Given the description of an element on the screen output the (x, y) to click on. 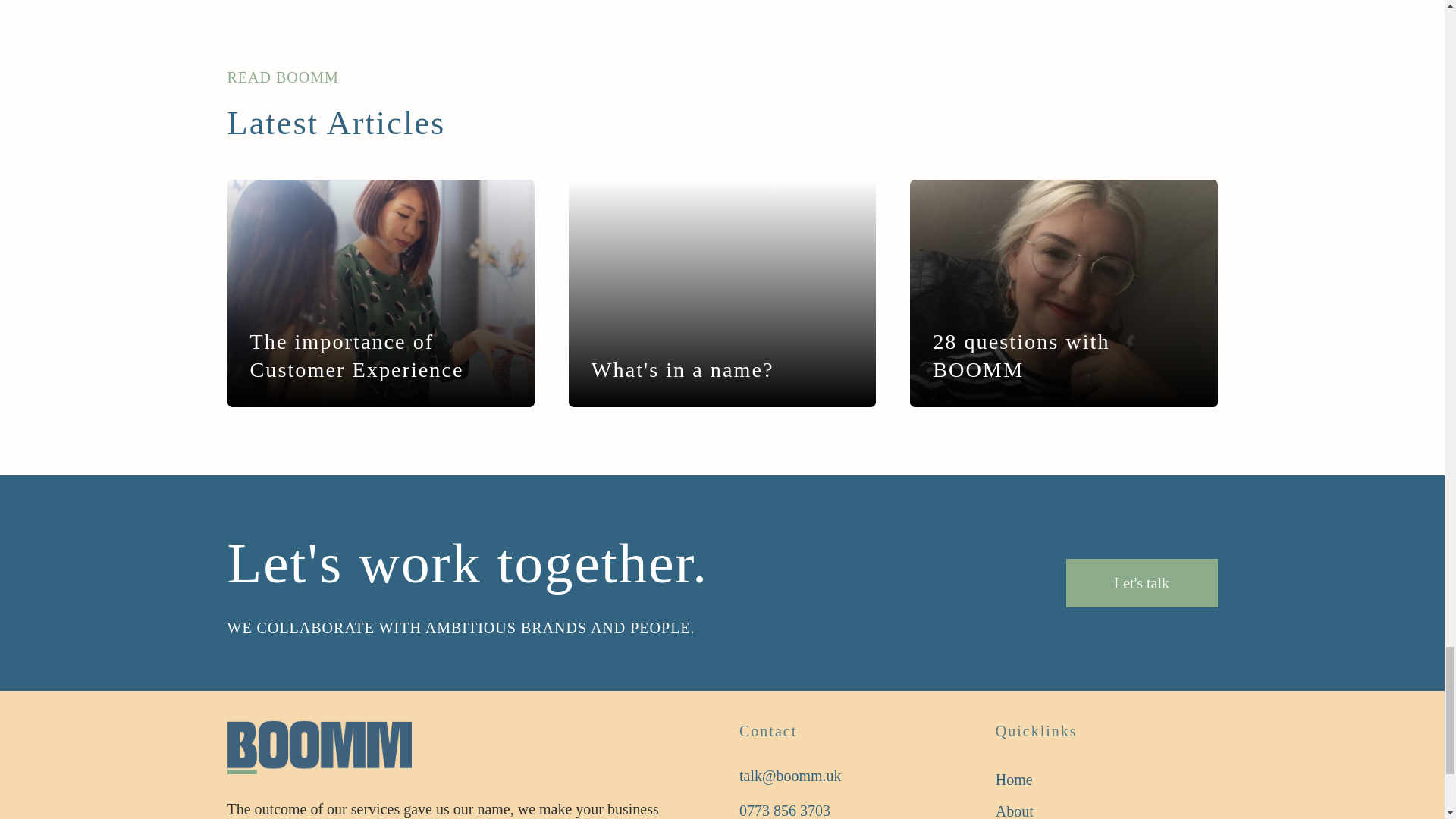
Home (1034, 779)
0773 856 3703 (784, 808)
Let's talk (1141, 582)
What's in a name? (682, 370)
The importance of Customer Experience (381, 356)
About (1034, 807)
28 questions with BOOMM (1063, 356)
